Given the description of an element on the screen output the (x, y) to click on. 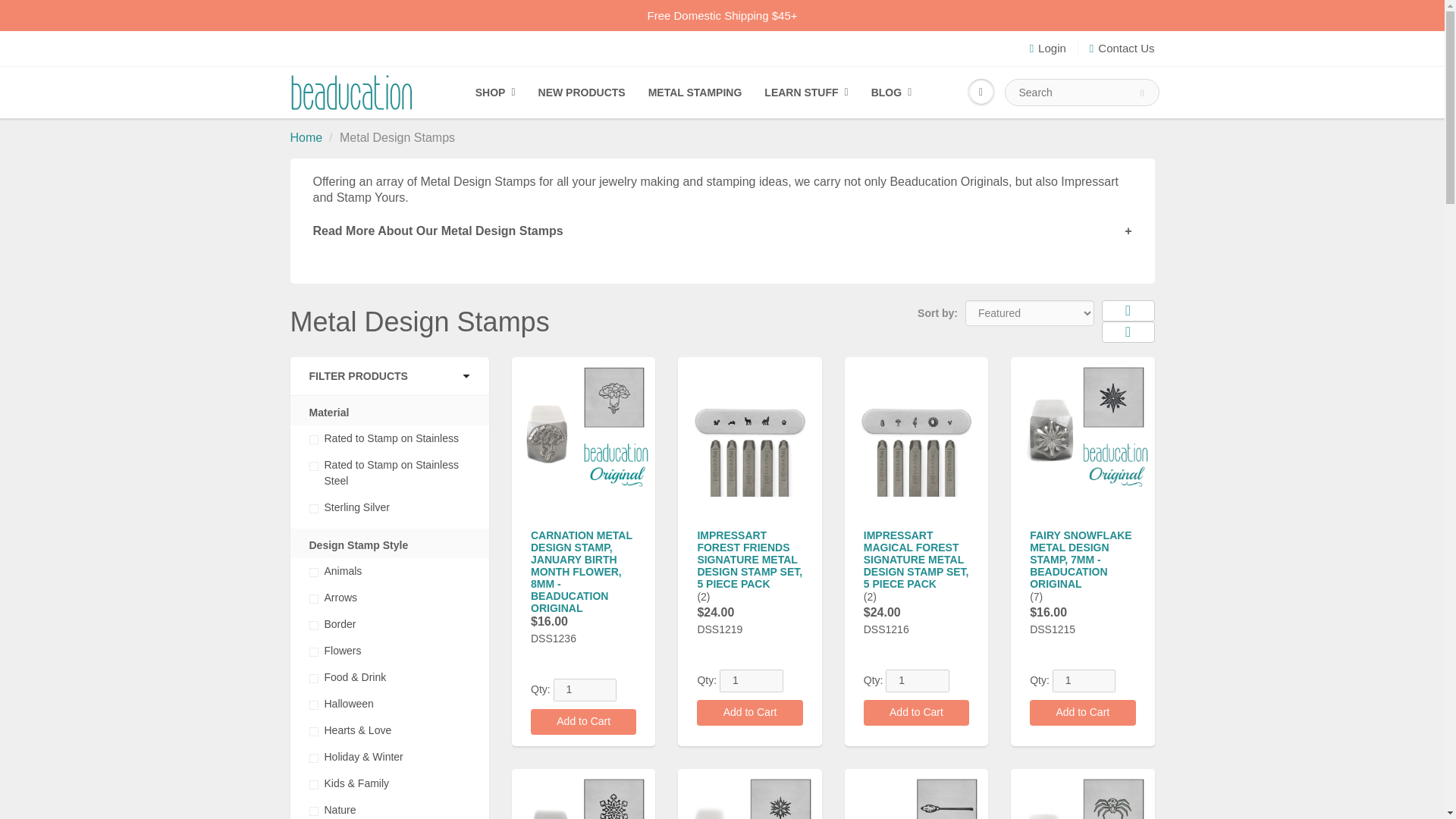
Add to Cart (1082, 712)
1 (1084, 680)
Home (305, 137)
Login (1047, 48)
1 (585, 689)
Contact Us (1121, 48)
SHOP (495, 92)
Add to Cart (916, 712)
Add to Cart (749, 712)
1 (751, 680)
1 (917, 680)
Add to Cart (583, 721)
